Given the description of an element on the screen output the (x, y) to click on. 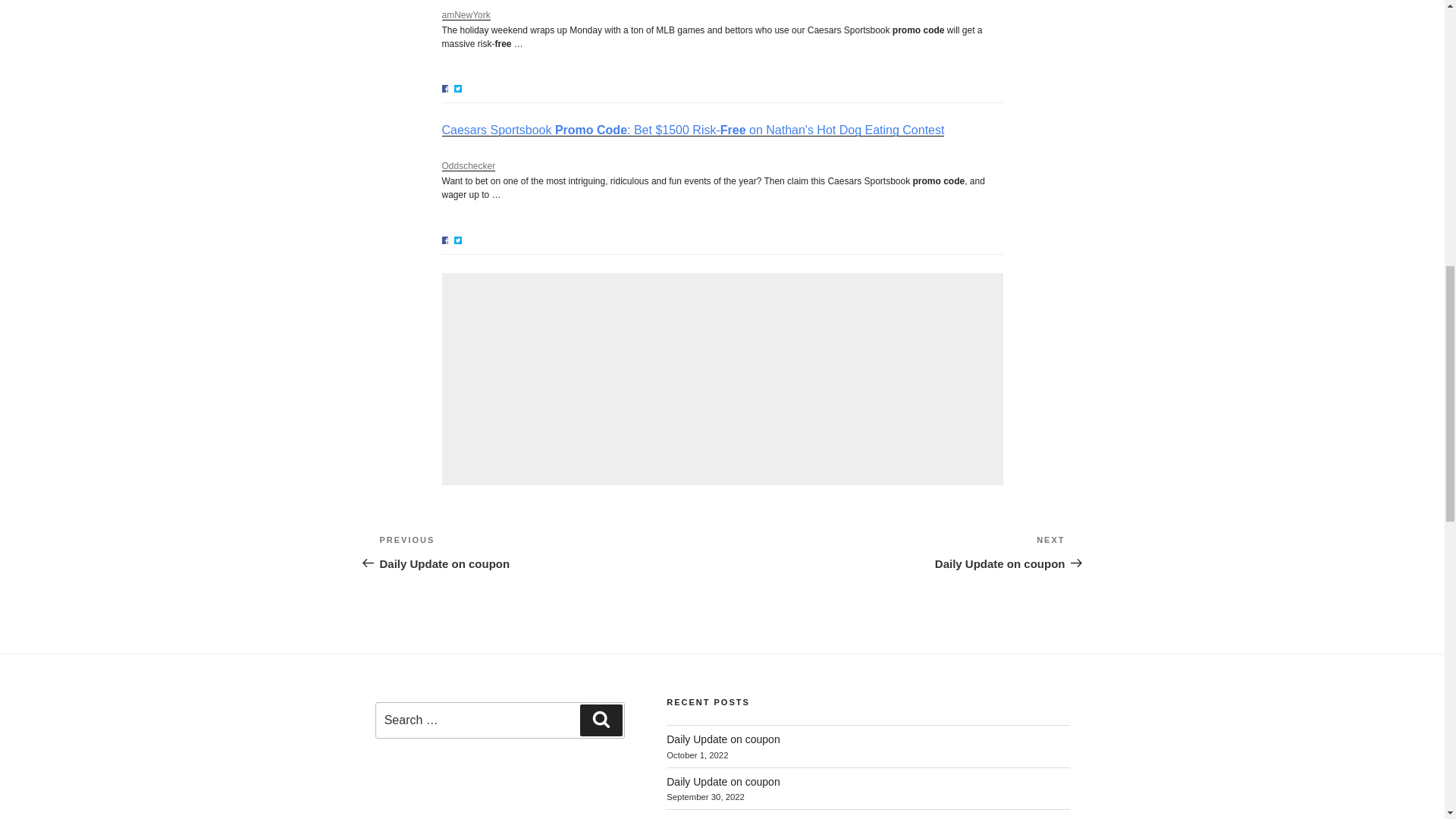
amNewYork (550, 551)
Advertisement (465, 14)
Daily Update on coupon (722, 378)
Search (722, 781)
Daily Update on coupon (601, 720)
Oddschecker (722, 739)
